Given the description of an element on the screen output the (x, y) to click on. 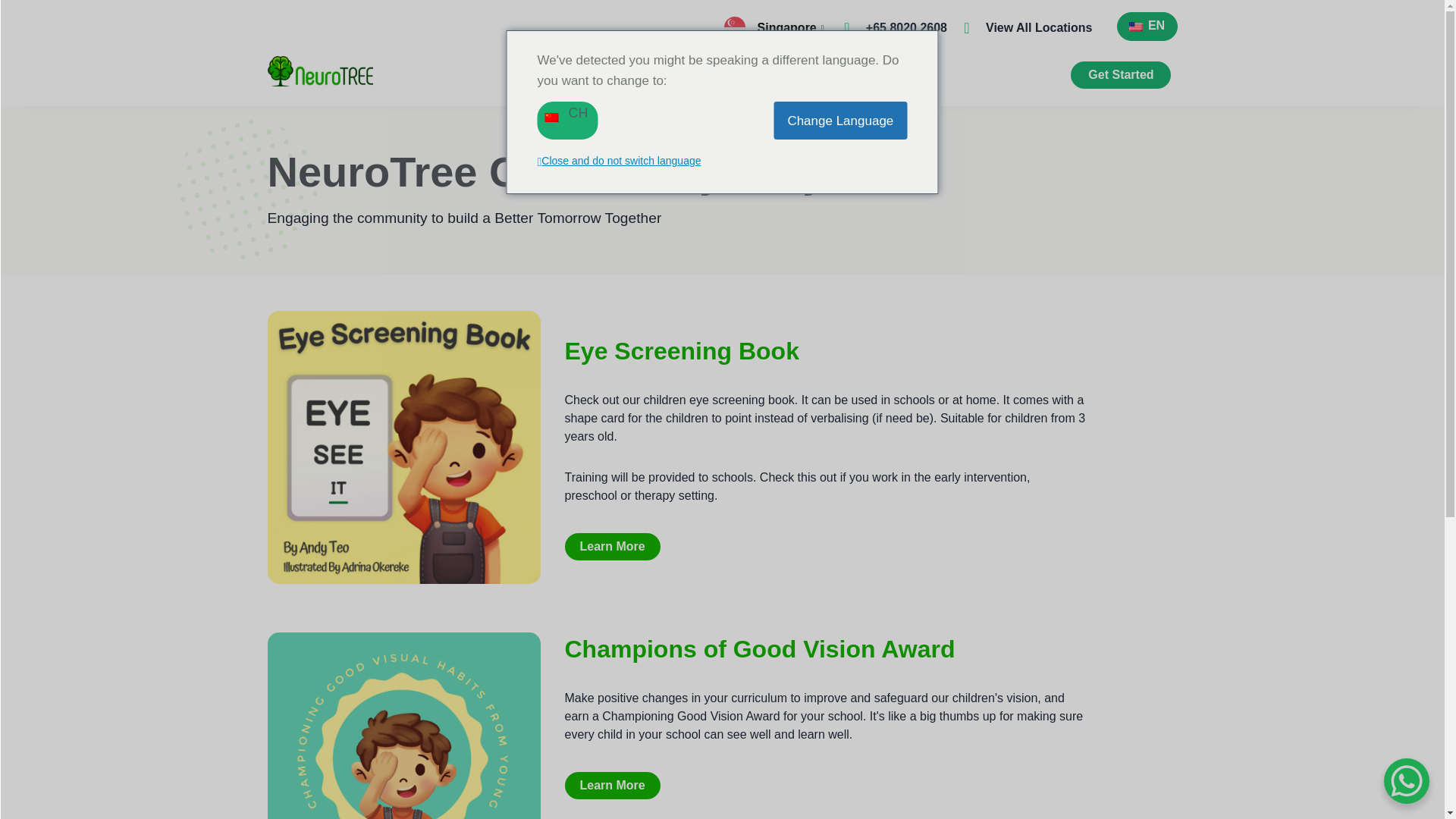
Events (679, 66)
Community Projects (792, 66)
About (529, 66)
Singapore (792, 27)
EN (1147, 24)
Get Started (1120, 74)
English (1134, 26)
English (1147, 24)
Courses (910, 66)
View All Locations (1038, 27)
Service (603, 66)
